Given the description of an element on the screen output the (x, y) to click on. 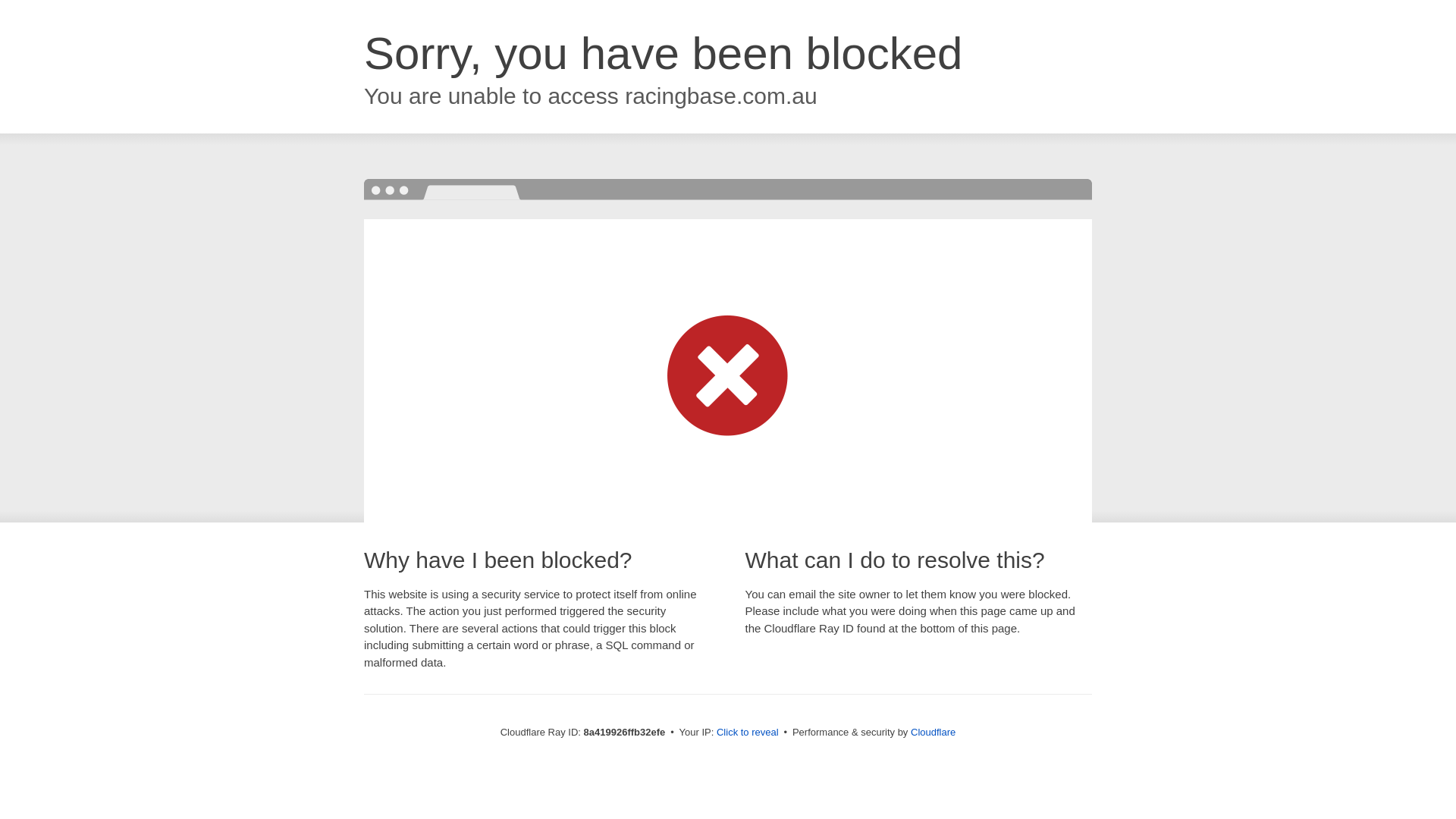
Cloudflare (933, 731)
Click to reveal (747, 732)
